Given the description of an element on the screen output the (x, y) to click on. 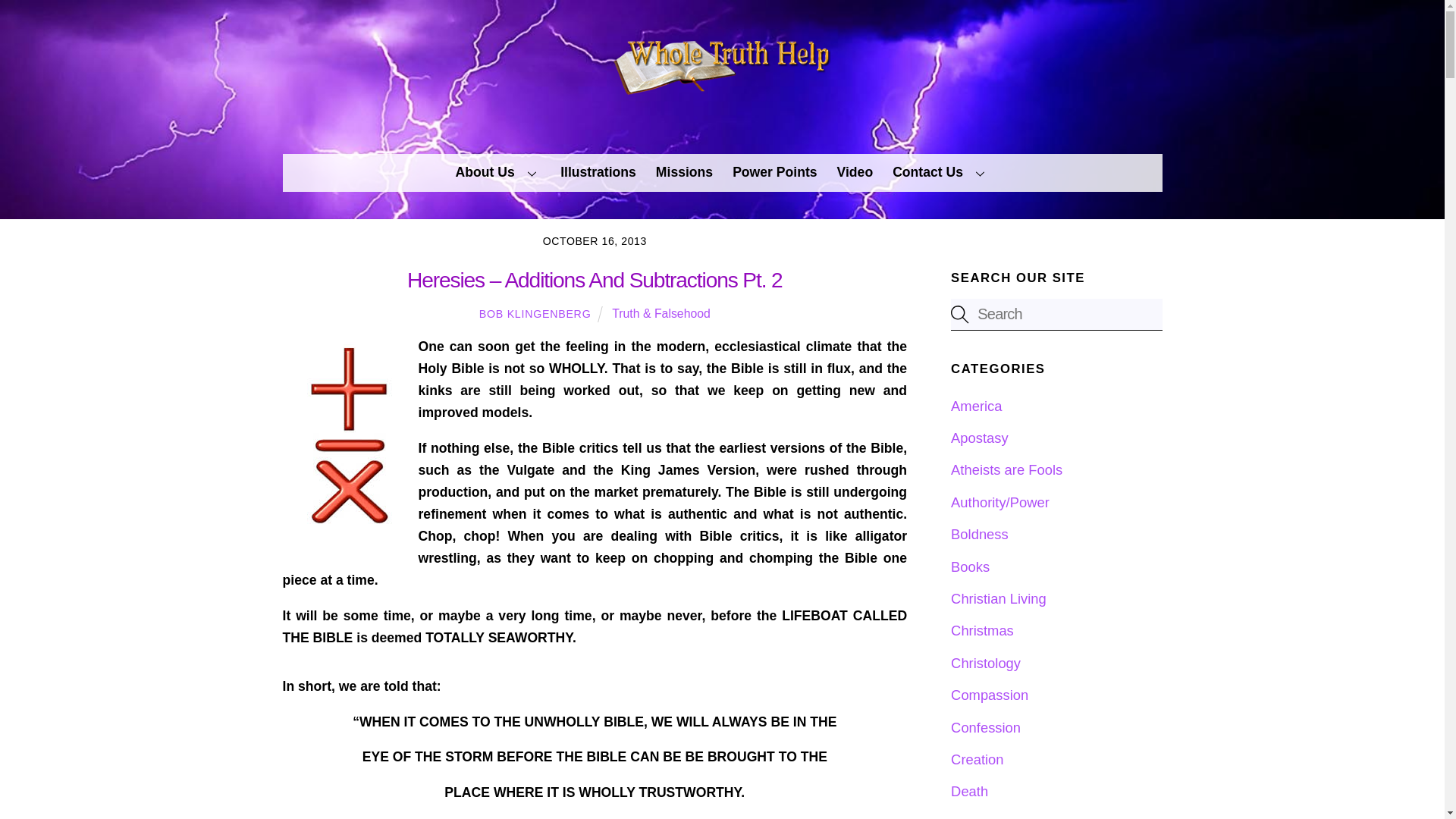
BOB KLINGENBERG (535, 313)
Boldness (979, 534)
Contact Us (941, 172)
Power Points (775, 172)
Whole Truth Helps (721, 94)
Christian Living (998, 598)
Christmas (981, 630)
Illustrations (599, 172)
Books (970, 566)
Missions (683, 172)
Video (854, 172)
Search (1055, 314)
Atheists are Fools (1006, 469)
America (975, 406)
